Given the description of an element on the screen output the (x, y) to click on. 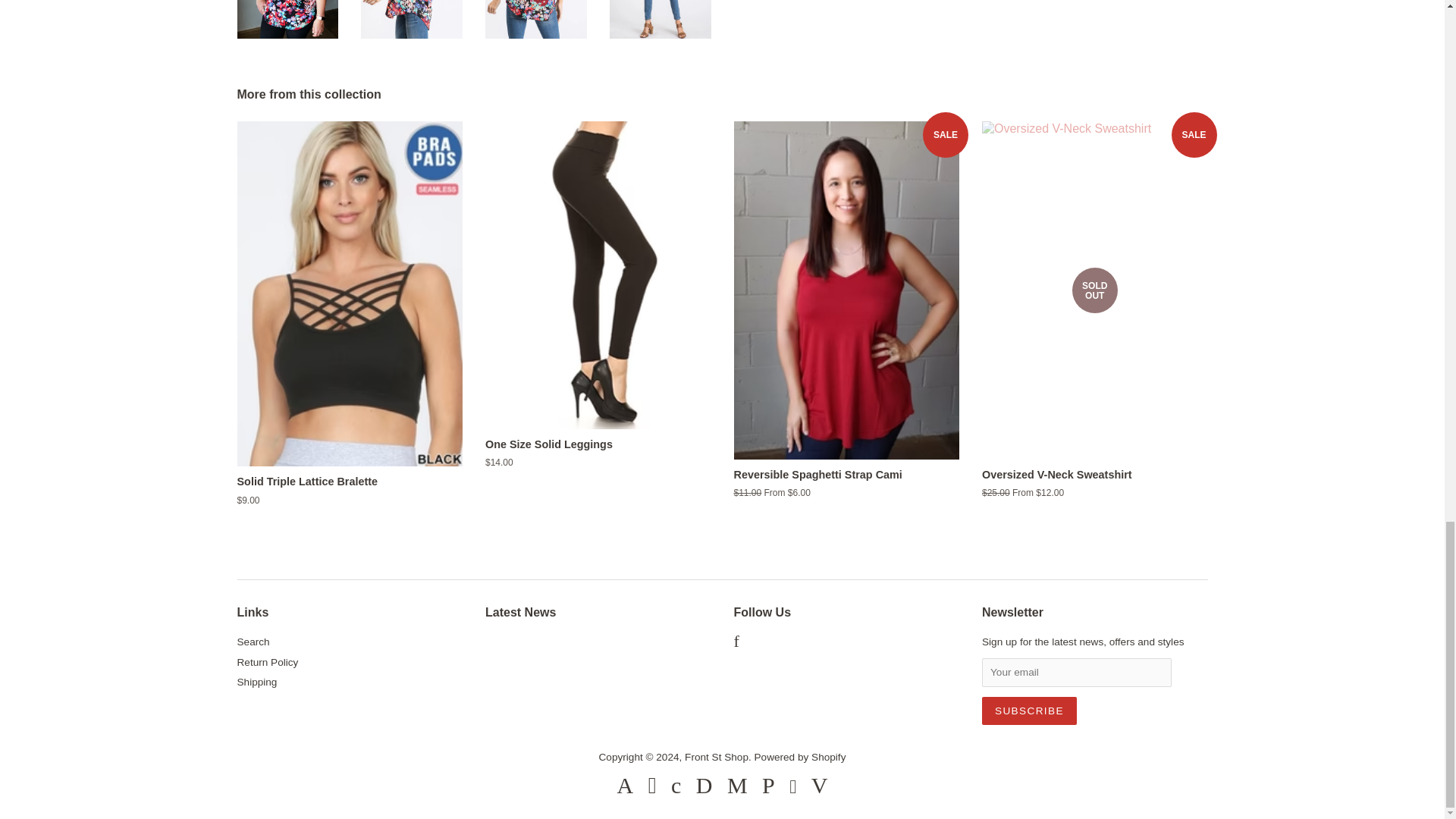
Subscribe (1029, 710)
